Given the description of an element on the screen output the (x, y) to click on. 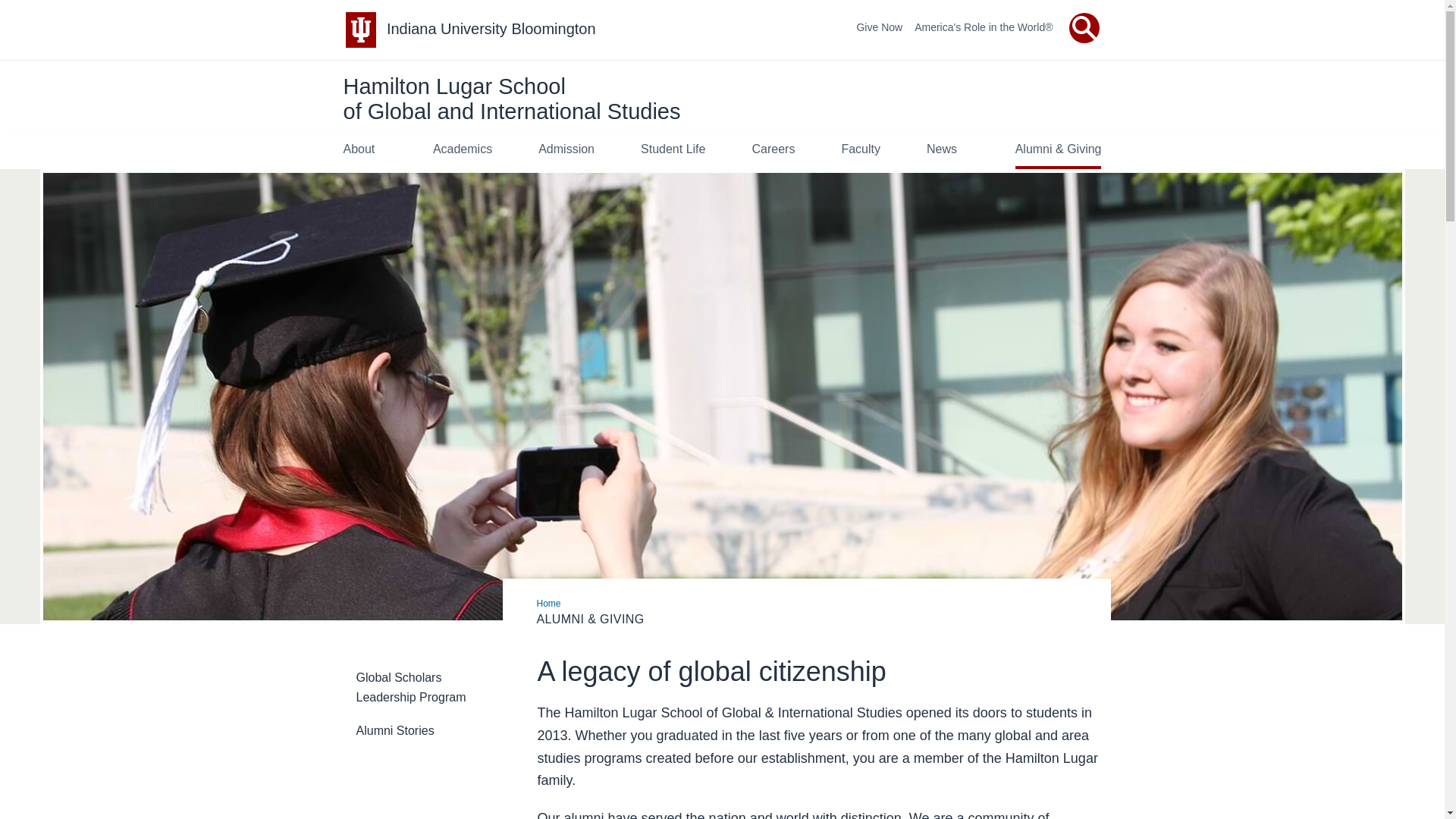
Indiana University Bloomington (491, 28)
Indiana University Bloomington (491, 28)
